Given the description of an element on the screen output the (x, y) to click on. 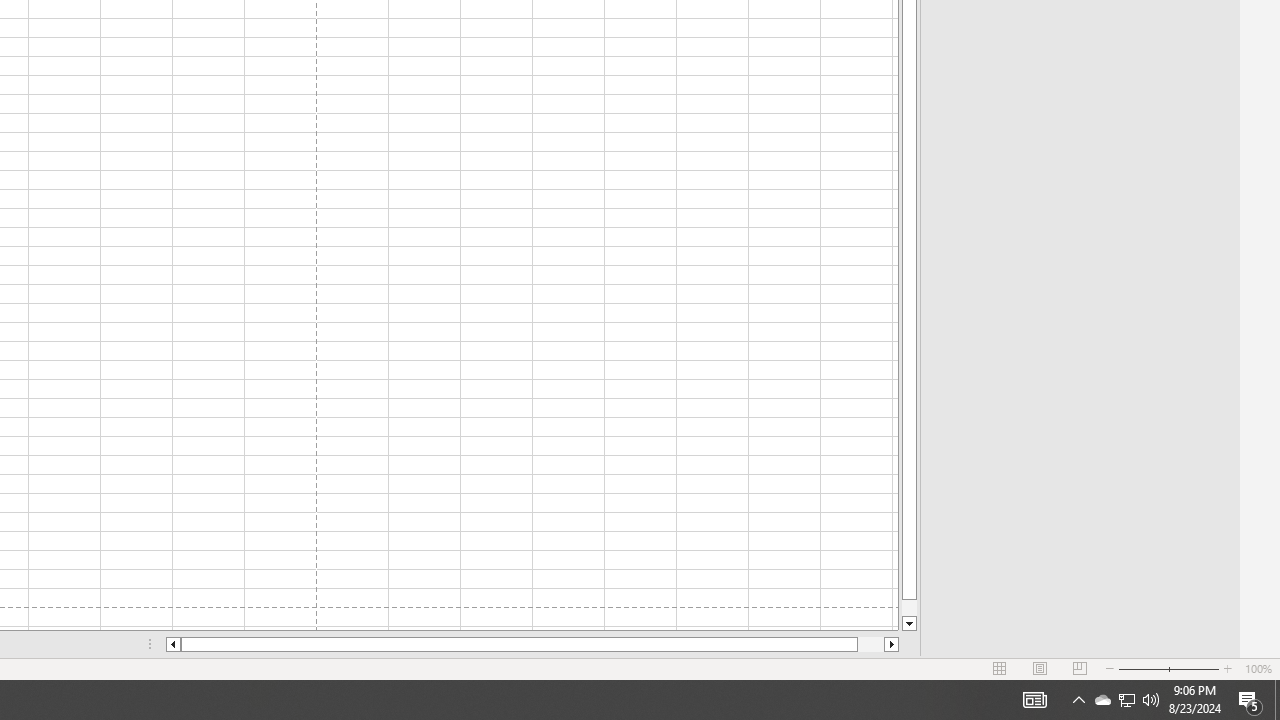
Page down (909, 607)
Page Break Preview (1079, 668)
Zoom (1168, 668)
Normal (1000, 668)
Page right (870, 644)
Zoom In (1227, 668)
Class: NetUIScrollBar (532, 644)
Line down (909, 624)
Column right (892, 644)
Zoom Out (1142, 668)
Column left (171, 644)
